Given the description of an element on the screen output the (x, y) to click on. 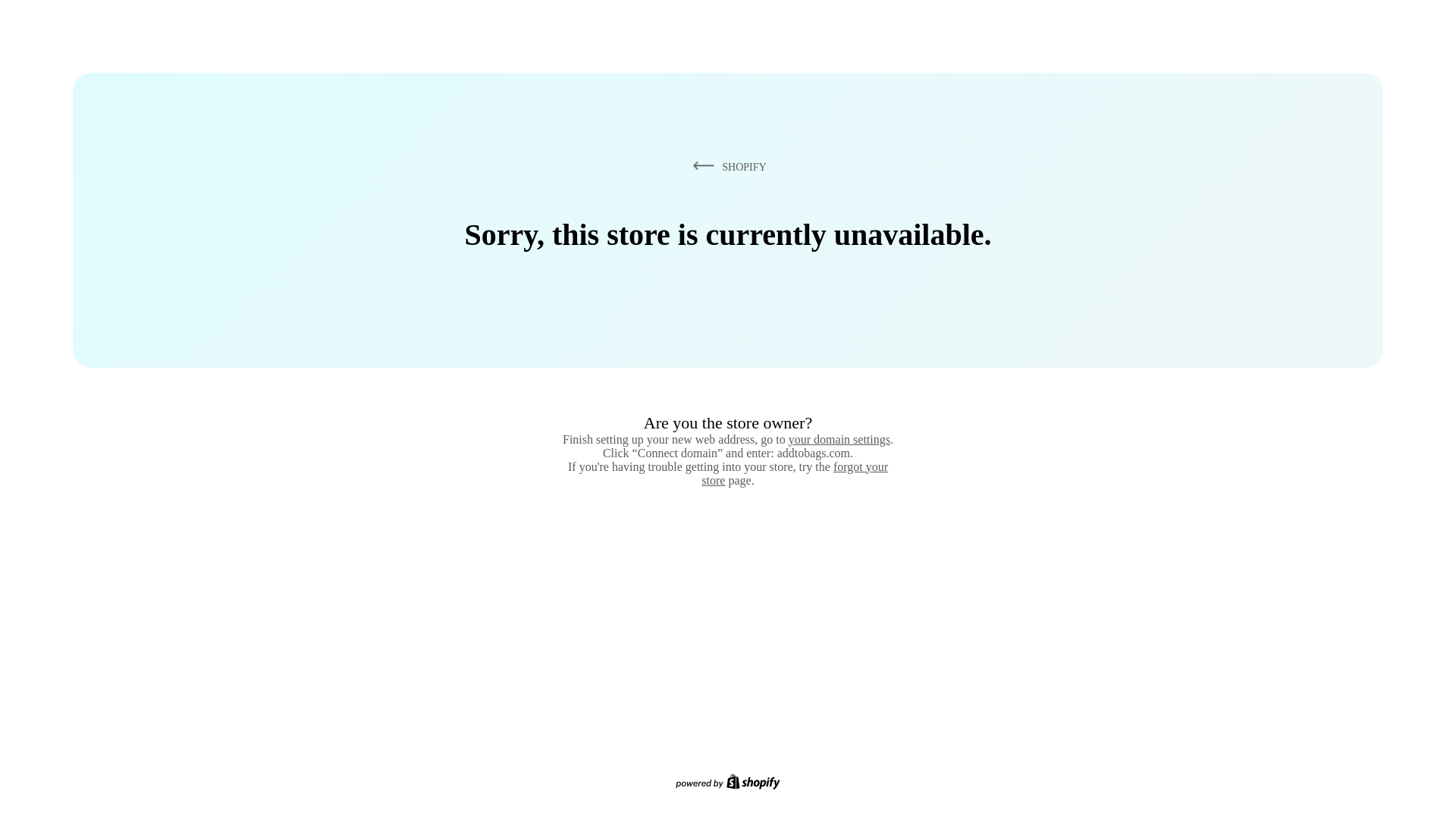
SHOPIFY (726, 166)
your domain settings (839, 439)
forgot your store (794, 473)
